Given the description of an element on the screen output the (x, y) to click on. 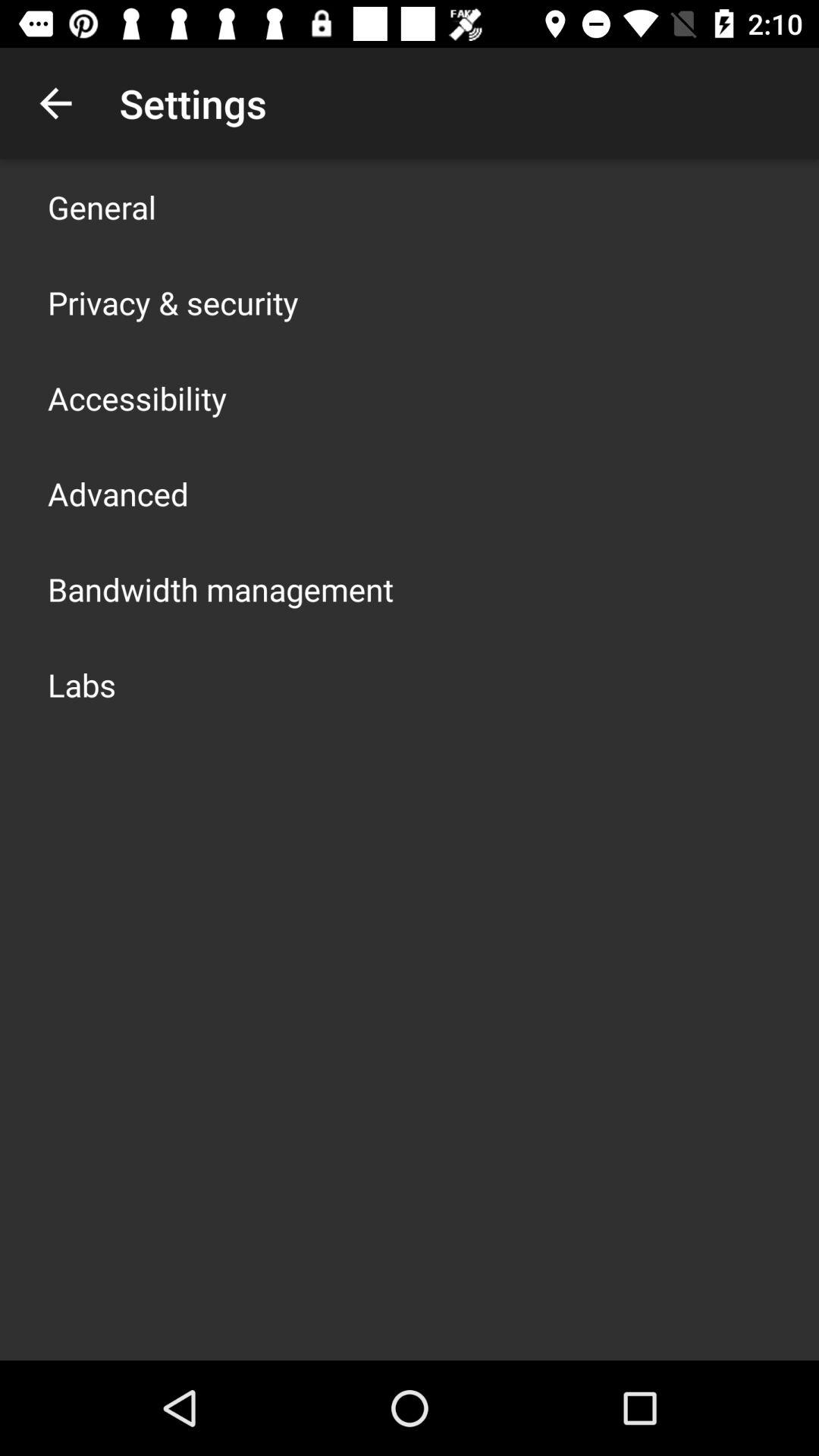
press the bandwidth management (220, 588)
